Given the description of an element on the screen output the (x, y) to click on. 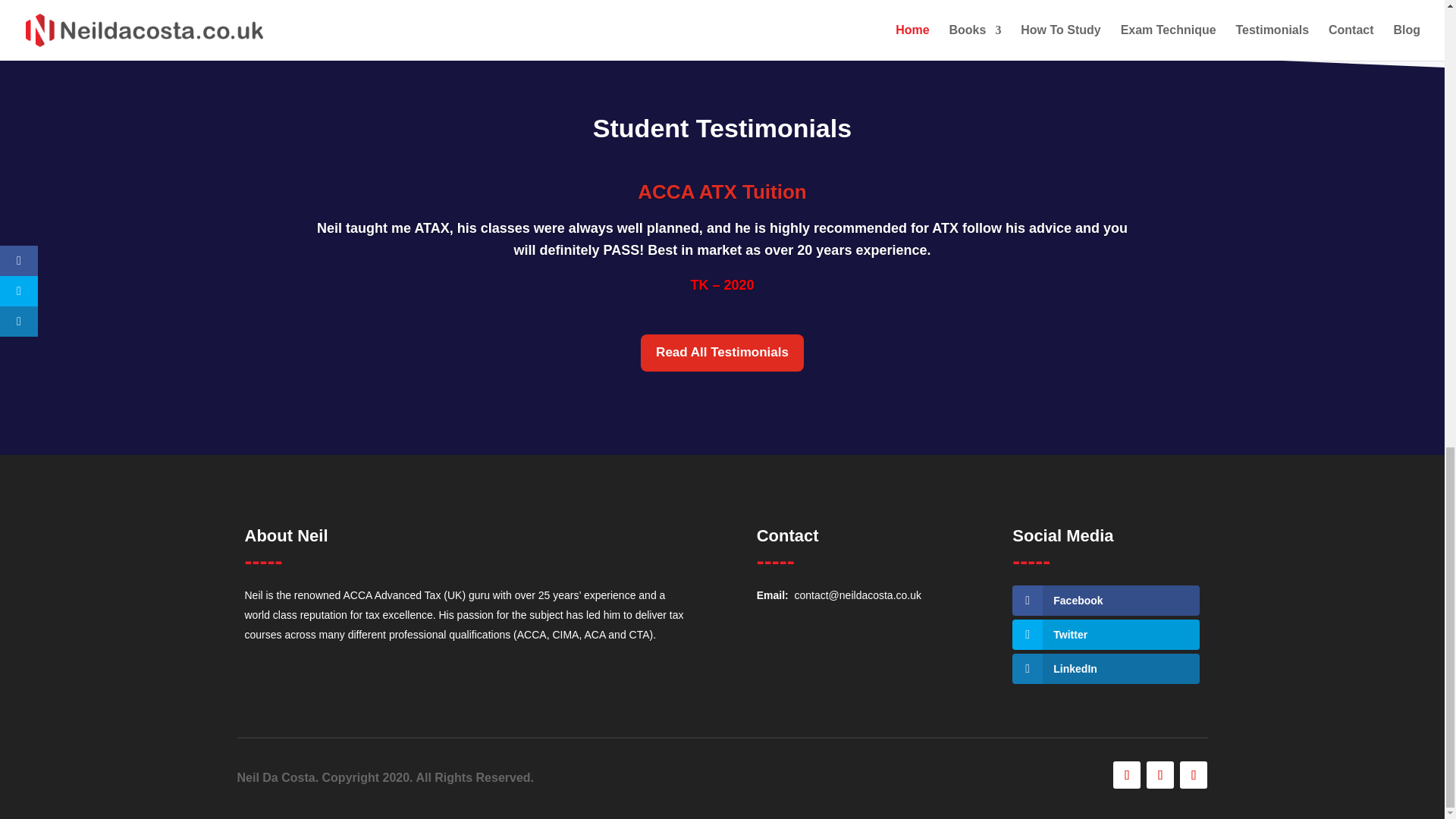
Facebook (1105, 600)
LinkedIn (1105, 668)
Twitter (1105, 634)
Follow on LinkedIn (1193, 774)
Follow on X (1160, 774)
Follow on Facebook (1126, 774)
